Given the description of an element on the screen output the (x, y) to click on. 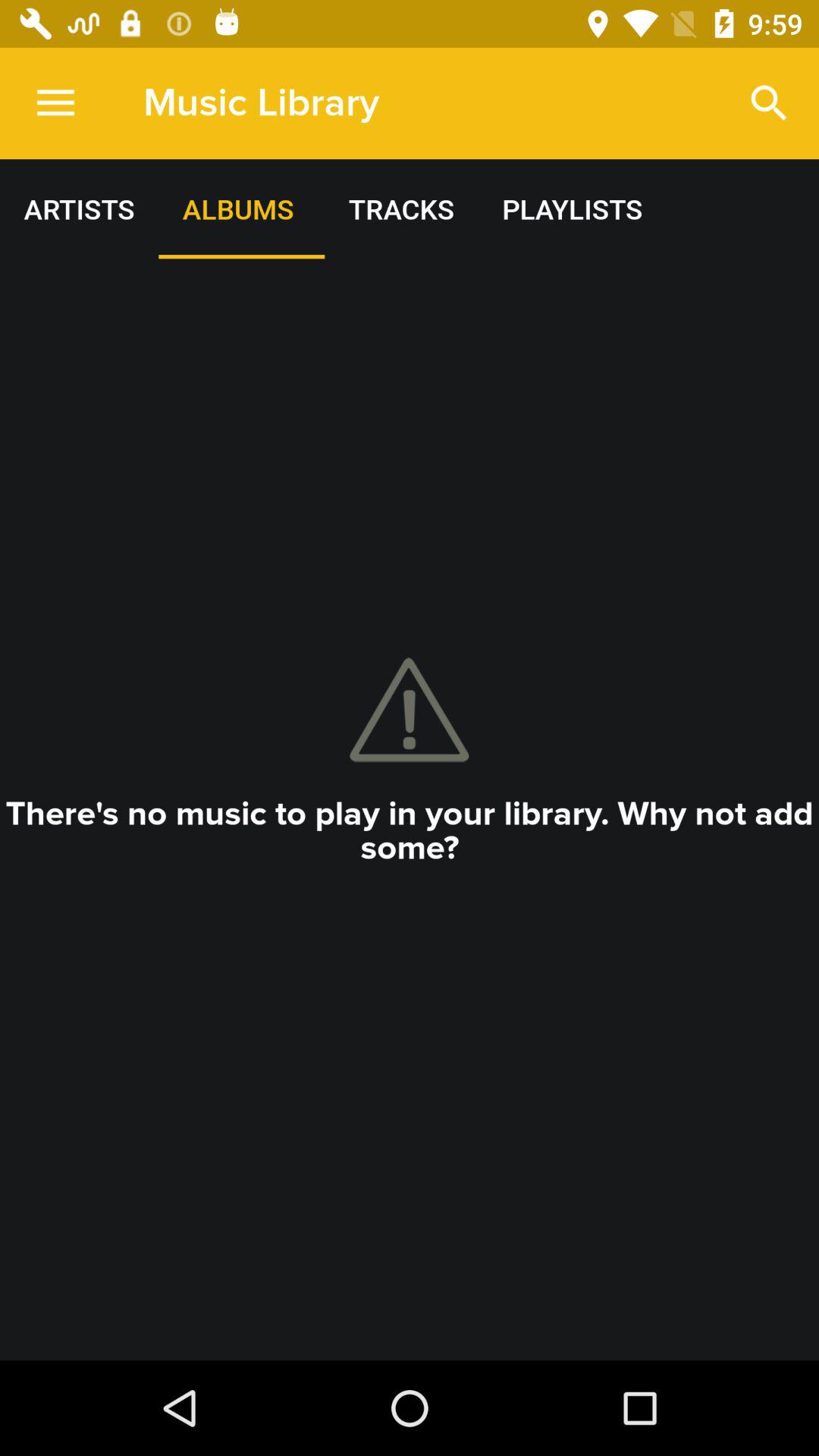
tap icon to the right of music library icon (769, 102)
